Given the description of an element on the screen output the (x, y) to click on. 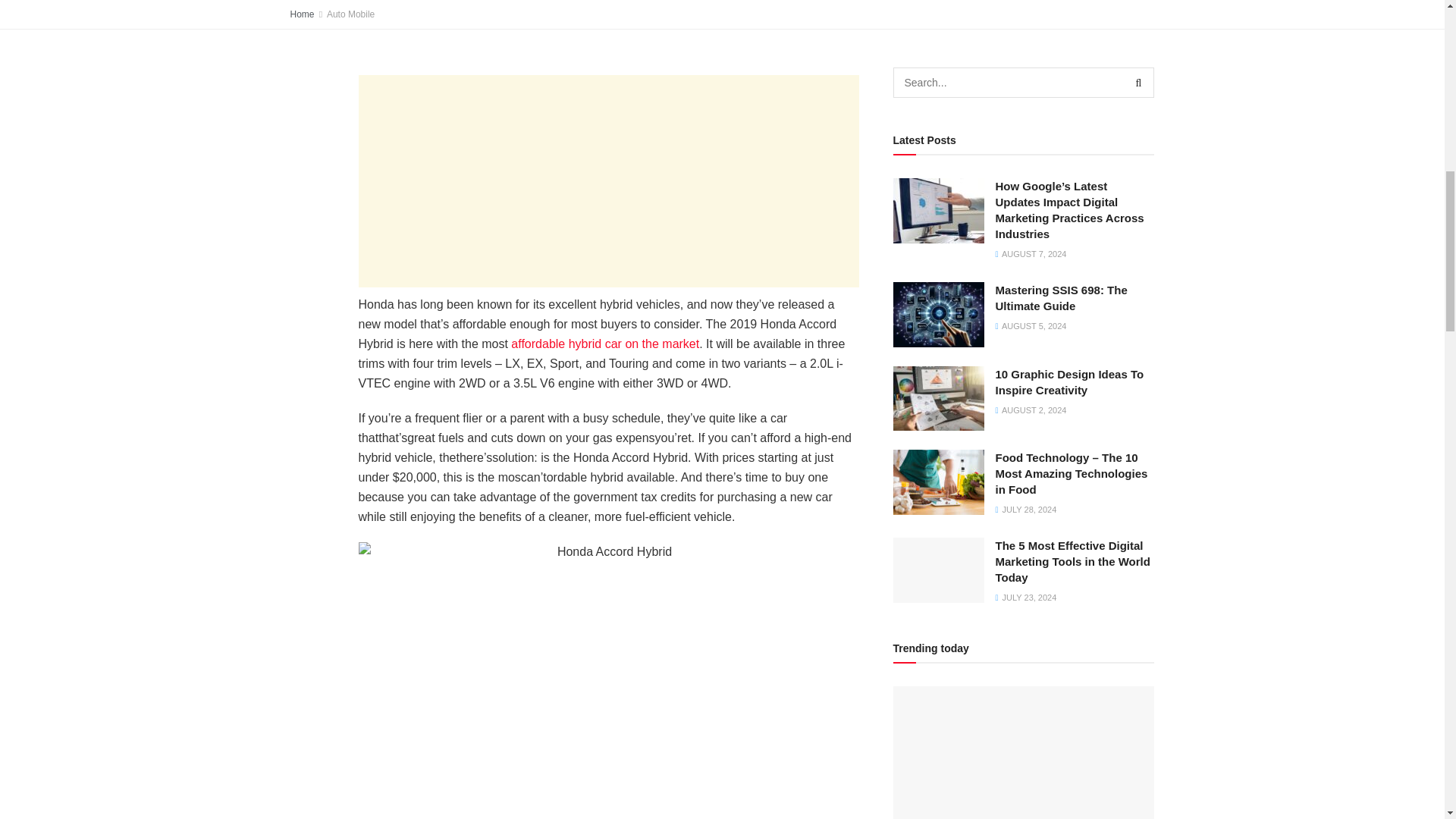
Advertisement (608, 181)
Food Technology - The 10 Most Amazing Technologies in Food 6 (938, 482)
Mastering SSIS 698: The Ultimate Guide 4 (938, 314)
10 Graphic Design Ideas To Inspire Creativity 5 (938, 398)
